Given the description of an element on the screen output the (x, y) to click on. 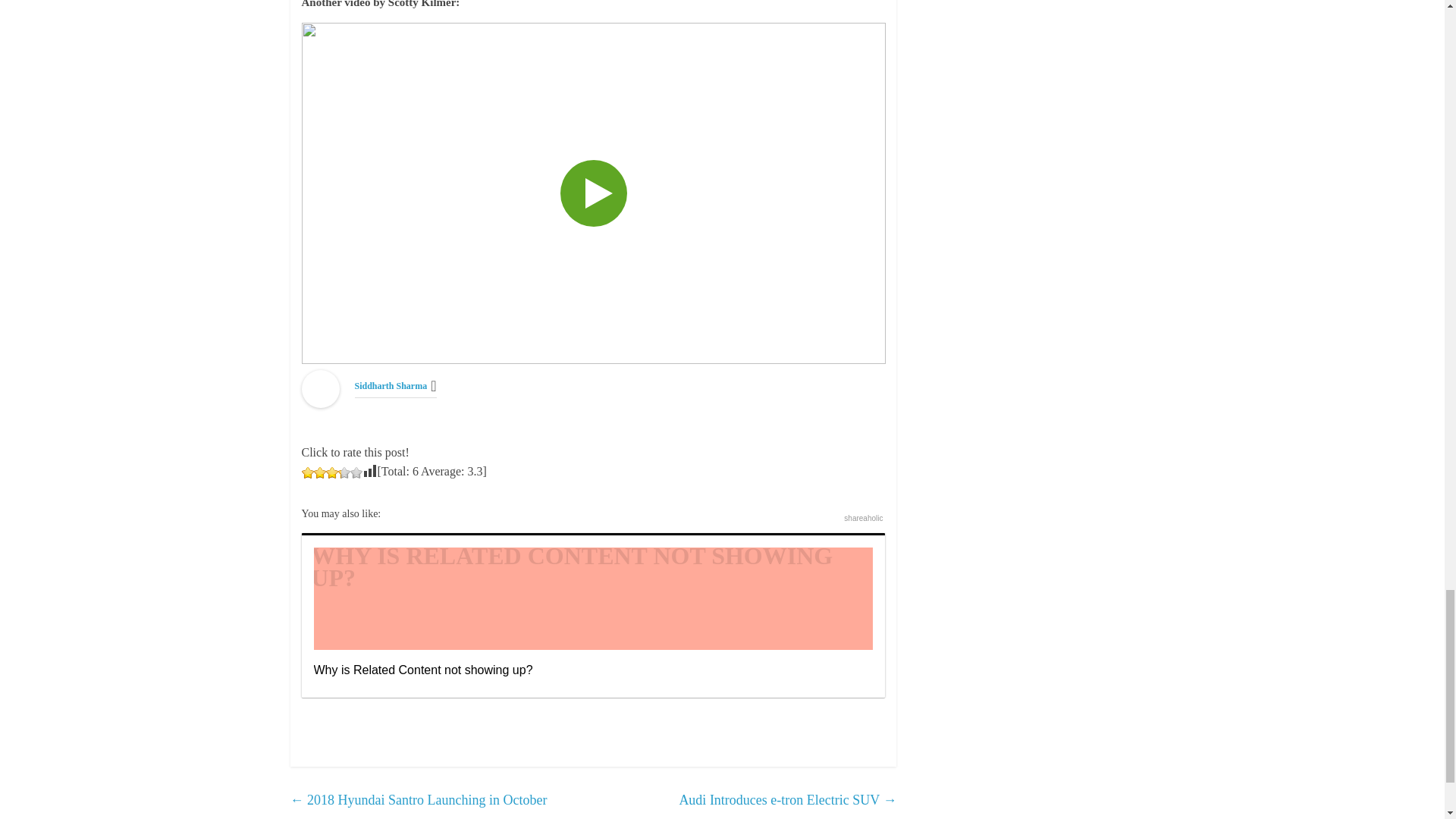
Why is Related Content not showing up? (593, 614)
shareaholic (863, 518)
Website Tools by Shareaholic (863, 518)
Siddharth Sharma (391, 385)
